Given the description of an element on the screen output the (x, y) to click on. 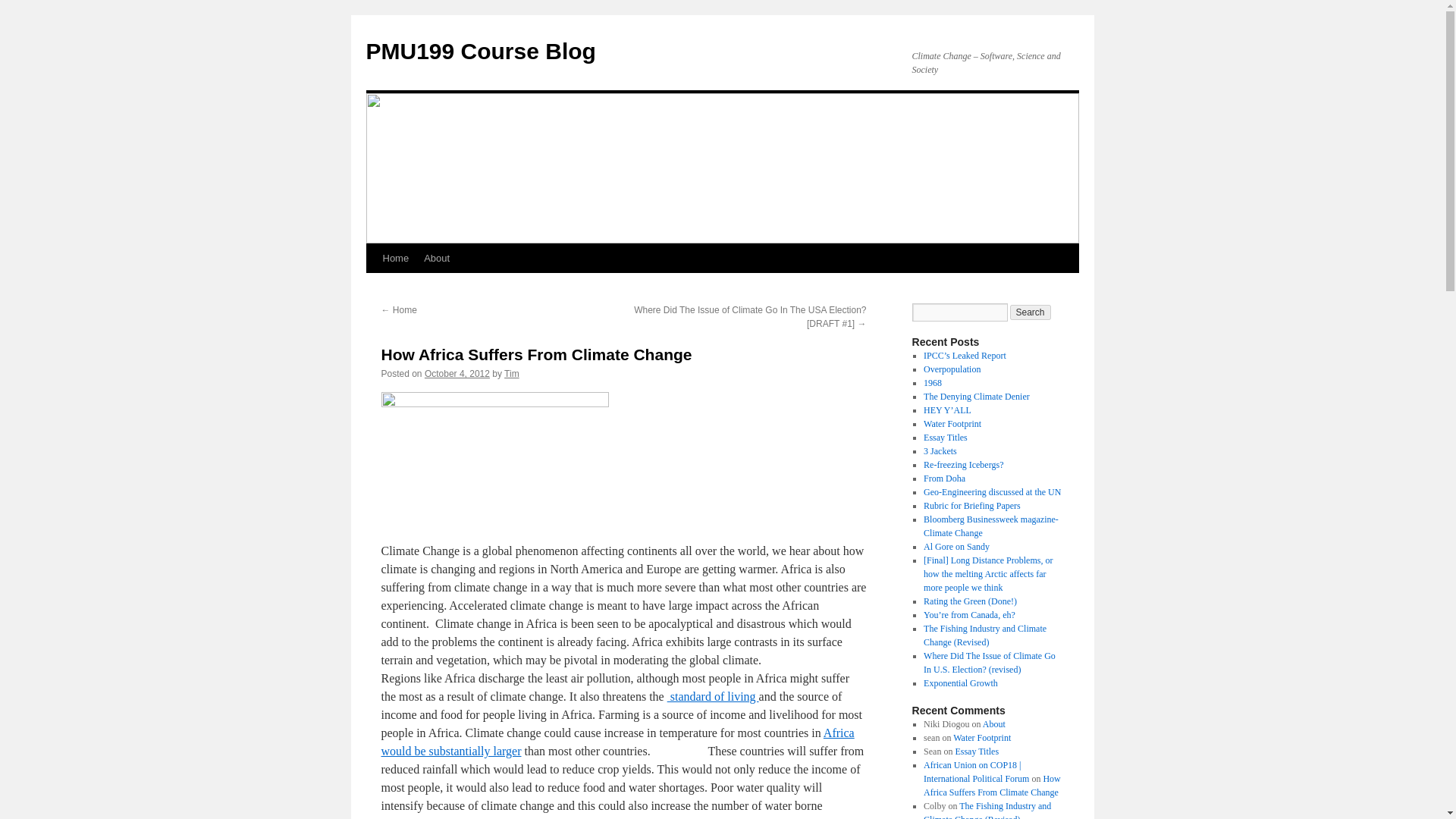
PMU199 Course Blog (480, 50)
View all posts by Tim (511, 373)
2:32 pm (457, 373)
PMU199 Course Blog (480, 50)
Search (1030, 312)
Overpopulation (951, 368)
Africa would be substantially larger (616, 741)
Re-freezing Icebergs? (963, 464)
Bloomberg Businessweek magazine-Climate Change (990, 526)
From Doha (944, 478)
Search (1030, 312)
standard of living (712, 696)
About (436, 258)
3 Jackets (939, 450)
Geo-Engineering discussed at the UN (992, 491)
